Given the description of an element on the screen output the (x, y) to click on. 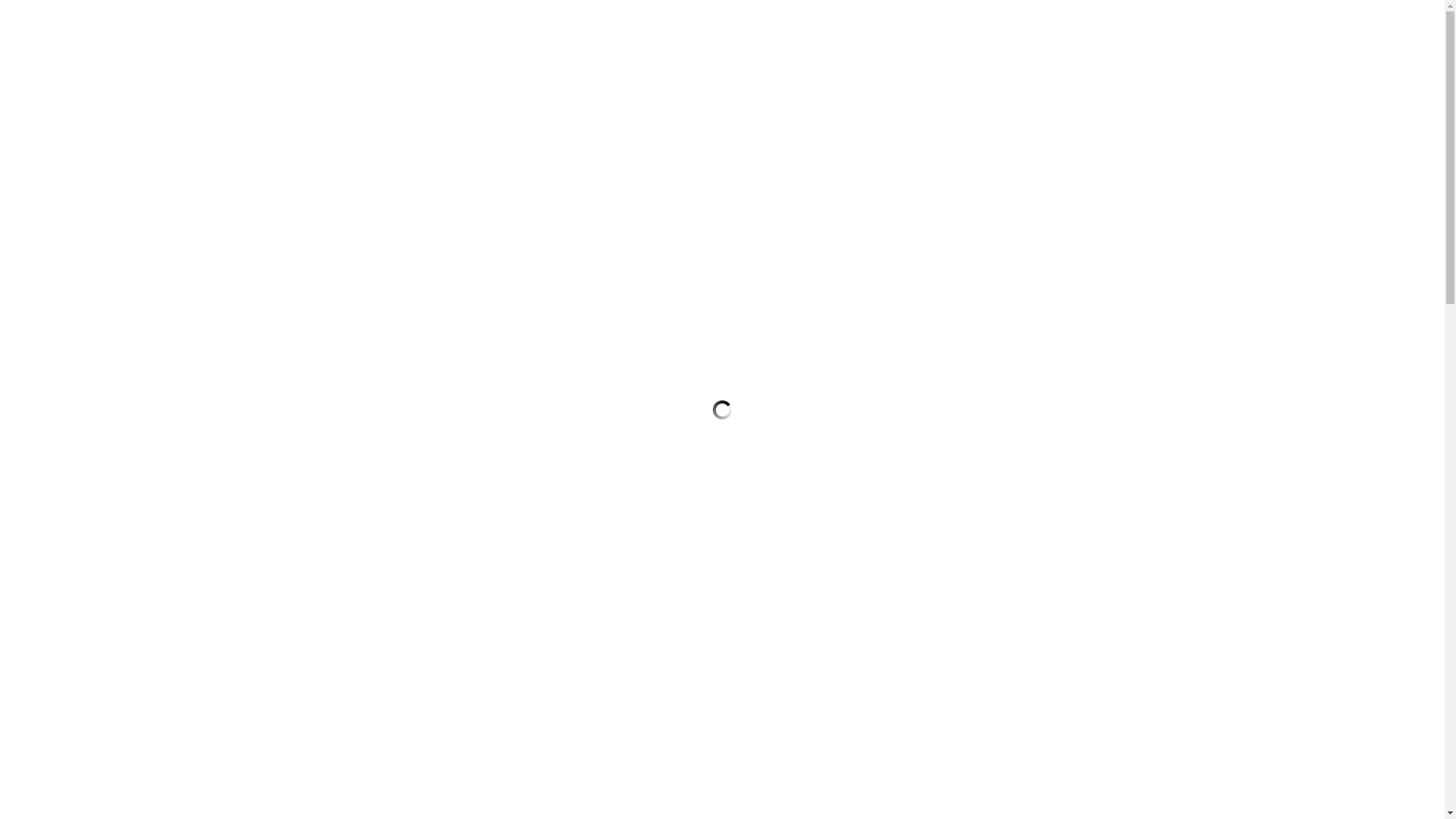
PORTFOLIO Element type: text (630, 111)
ABOUT Element type: text (743, 111)
CONTACT Element type: text (847, 111)
